Given the description of an element on the screen output the (x, y) to click on. 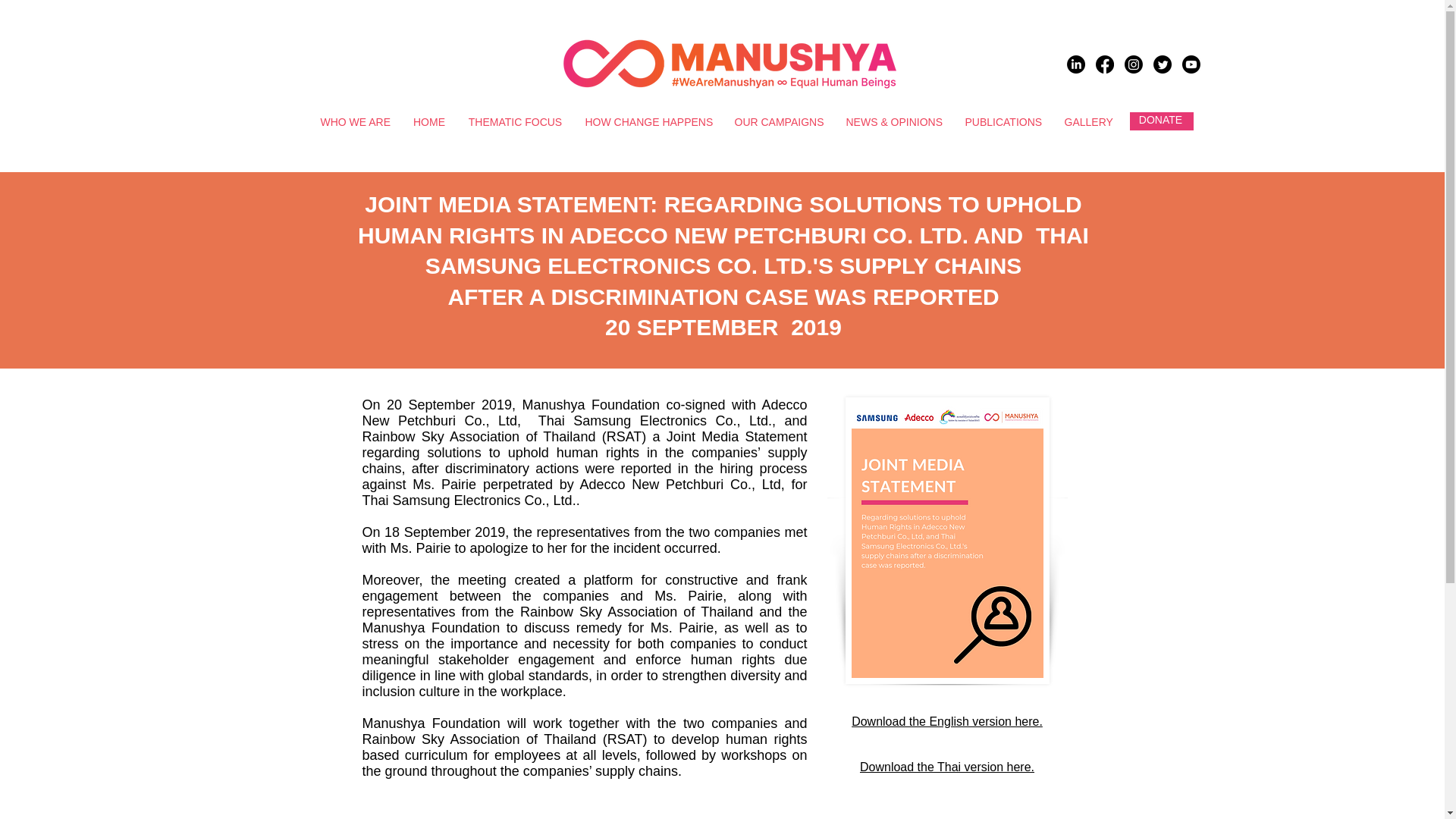
PUBLICATIONS (1002, 121)
OUR CAMPAIGNS (778, 121)
WHO WE ARE (354, 121)
THEMATIC FOCUS (515, 121)
HOW CHANGE HAPPENS (647, 121)
GALLERY (1088, 121)
HOME (429, 121)
